Given the description of an element on the screen output the (x, y) to click on. 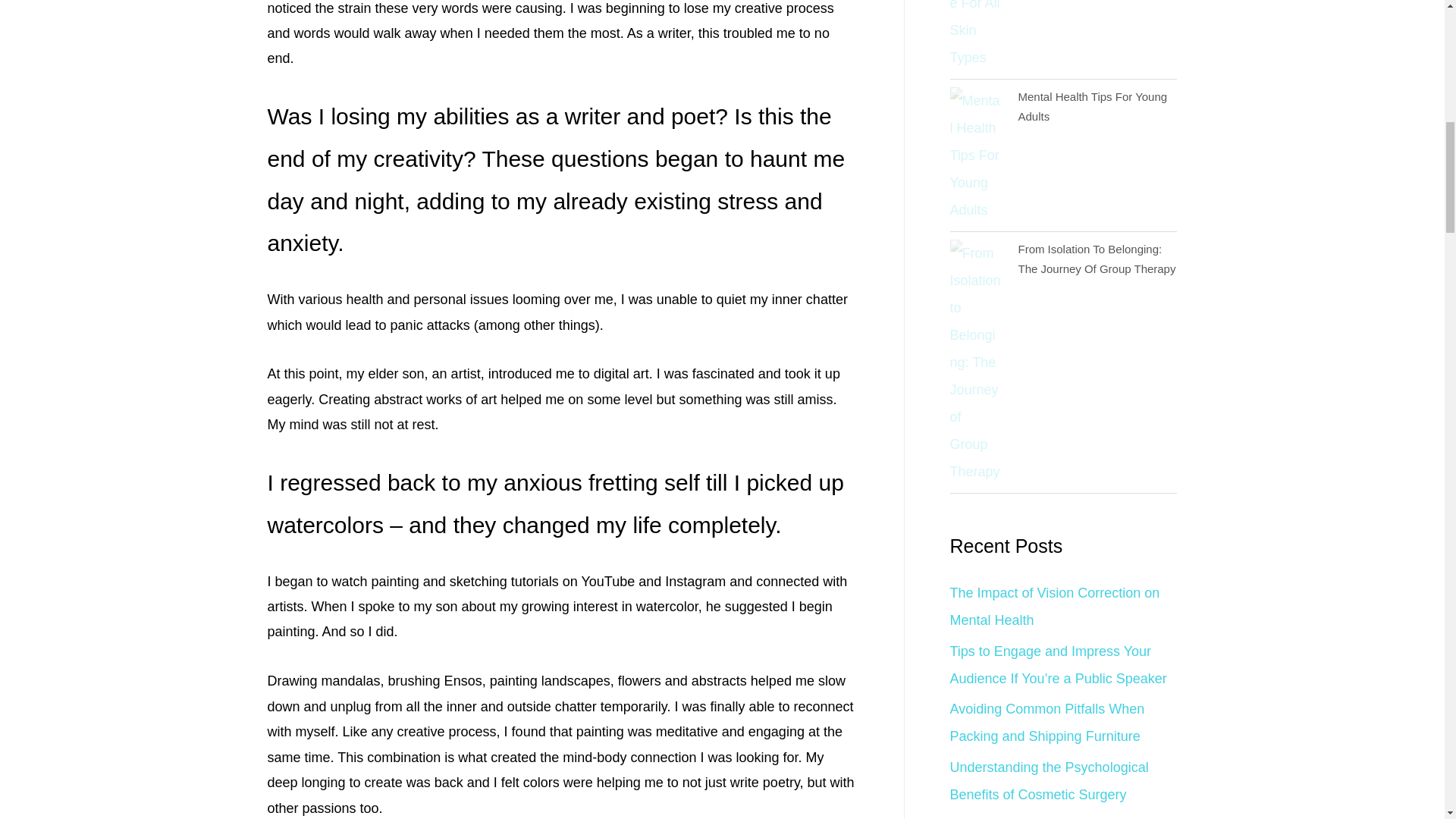
The Impact of Vision Correction on Mental Health (1053, 606)
From Isolation To Belonging: The Journey Of Group Therapy (1095, 258)
Mental Health Tips For Young Adults (1092, 106)
